Given the description of an element on the screen output the (x, y) to click on. 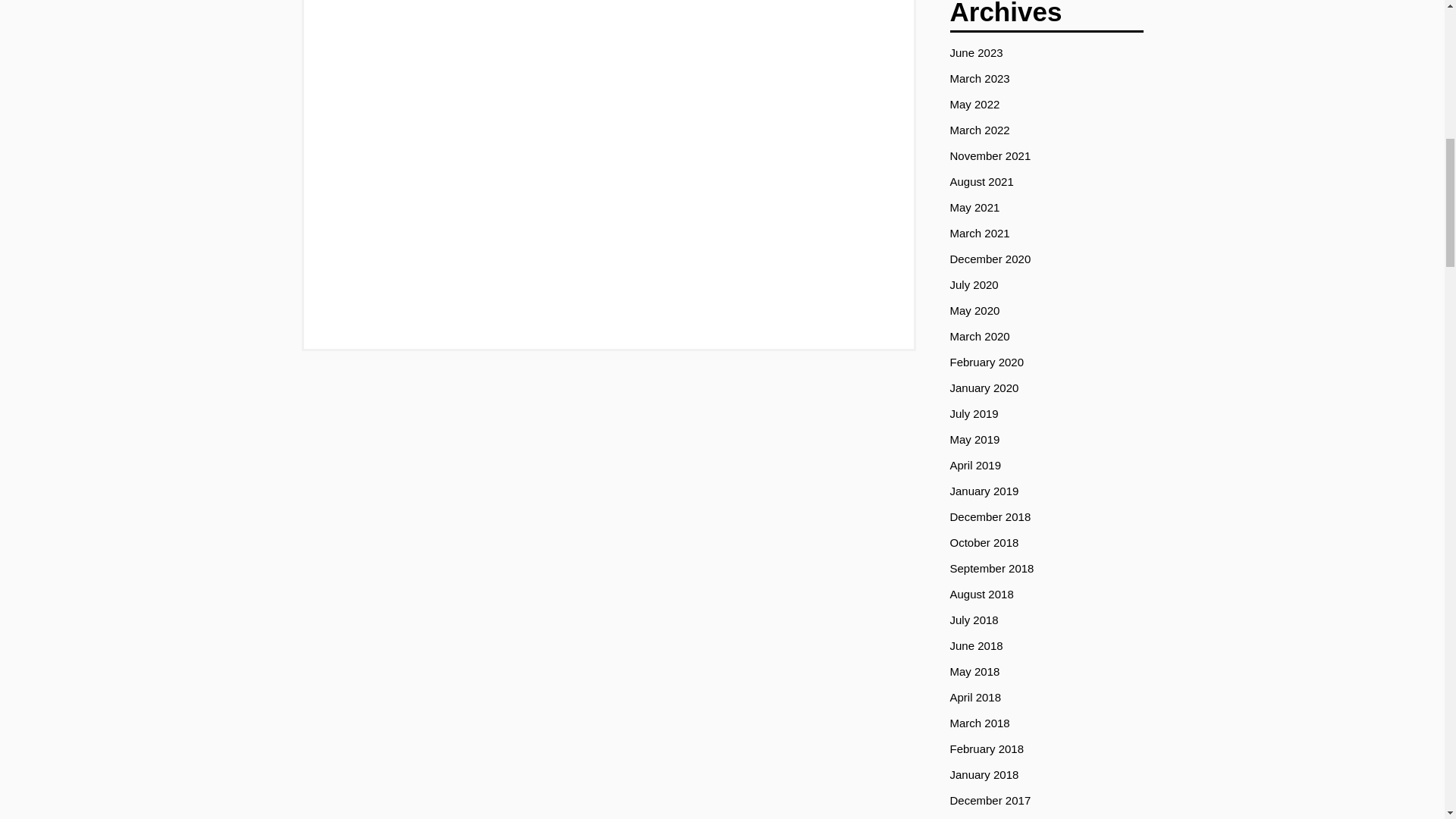
May 2021 (973, 206)
May 2022 (973, 103)
March 2023 (979, 78)
March 2022 (979, 129)
December 2020 (989, 258)
June 2023 (976, 51)
August 2021 (981, 181)
November 2021 (989, 155)
March 2021 (979, 232)
July 2020 (973, 284)
